Given the description of an element on the screen output the (x, y) to click on. 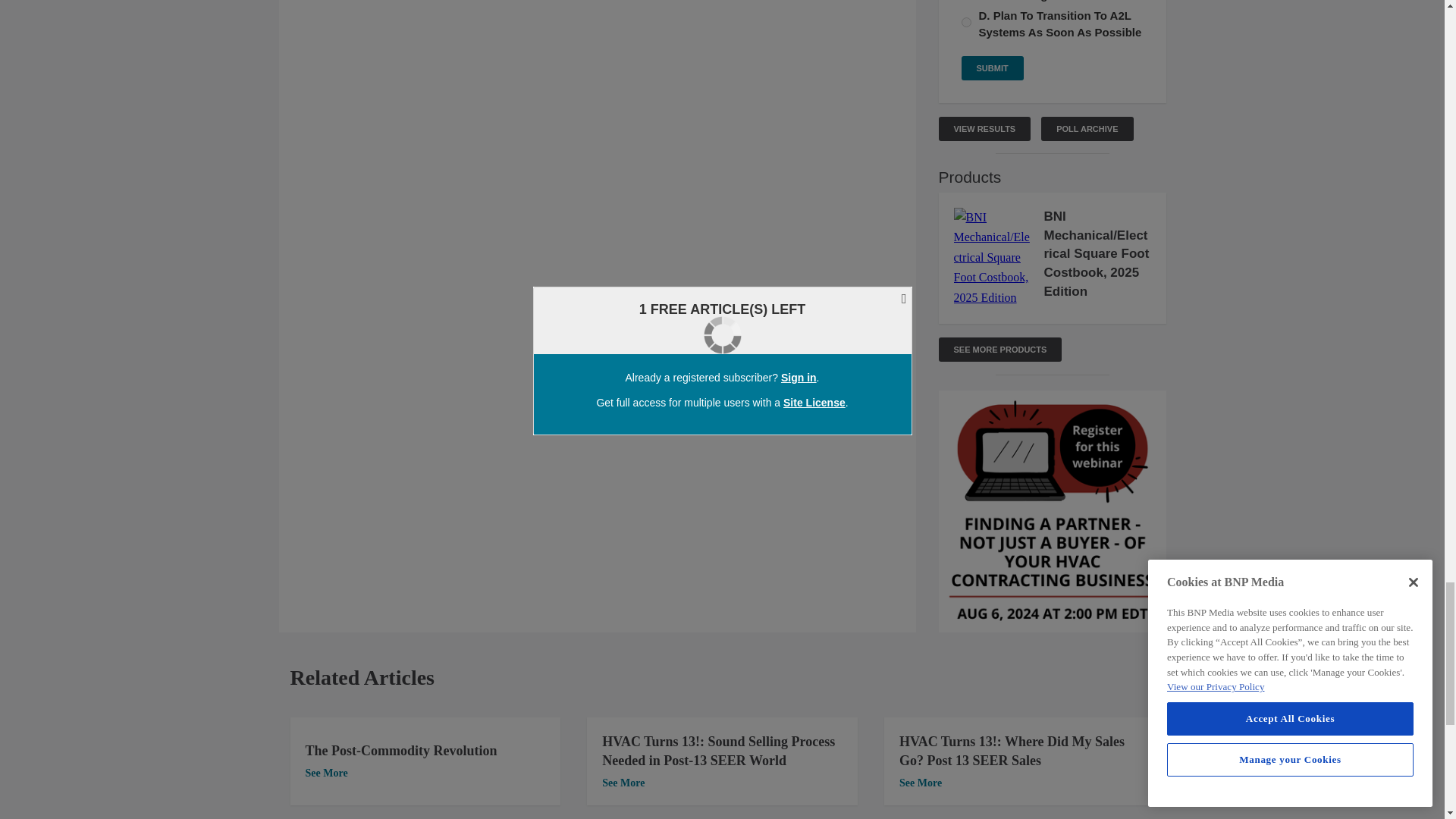
599 (965, 22)
Submit (991, 68)
